Given the description of an element on the screen output the (x, y) to click on. 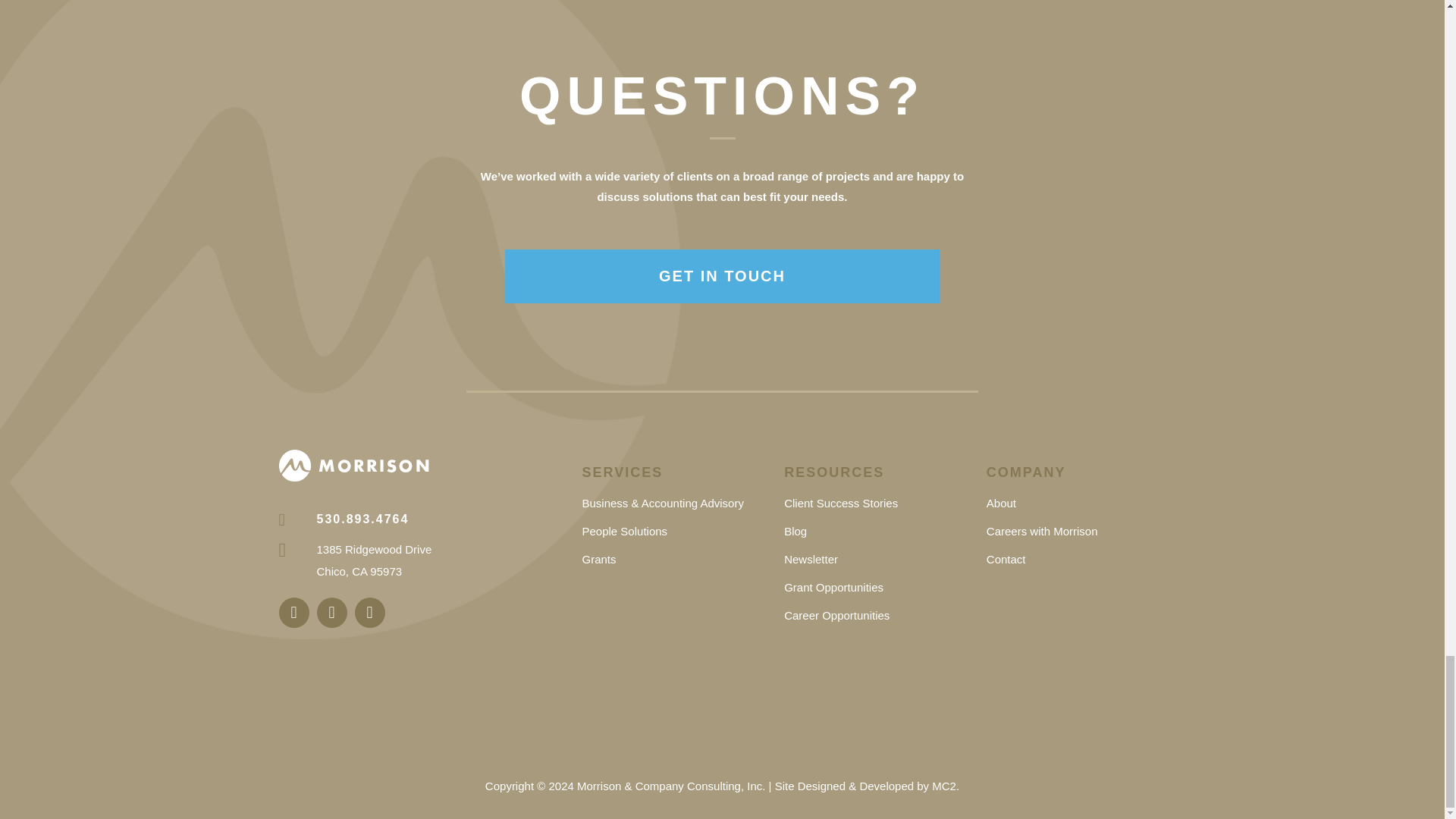
Careers with Morrison (1042, 530)
GET IN TOUCH (722, 276)
Facebook (332, 612)
LinkedIn (293, 612)
Twitter (370, 612)
530.893.4764 (344, 519)
About (1001, 502)
Newsletter (811, 558)
Contact (1006, 558)
Blog (795, 530)
People Solutions (623, 530)
Grants (597, 558)
Career Opportunities (836, 615)
MC2 (943, 785)
Client Success Stories (841, 502)
